Given the description of an element on the screen output the (x, y) to click on. 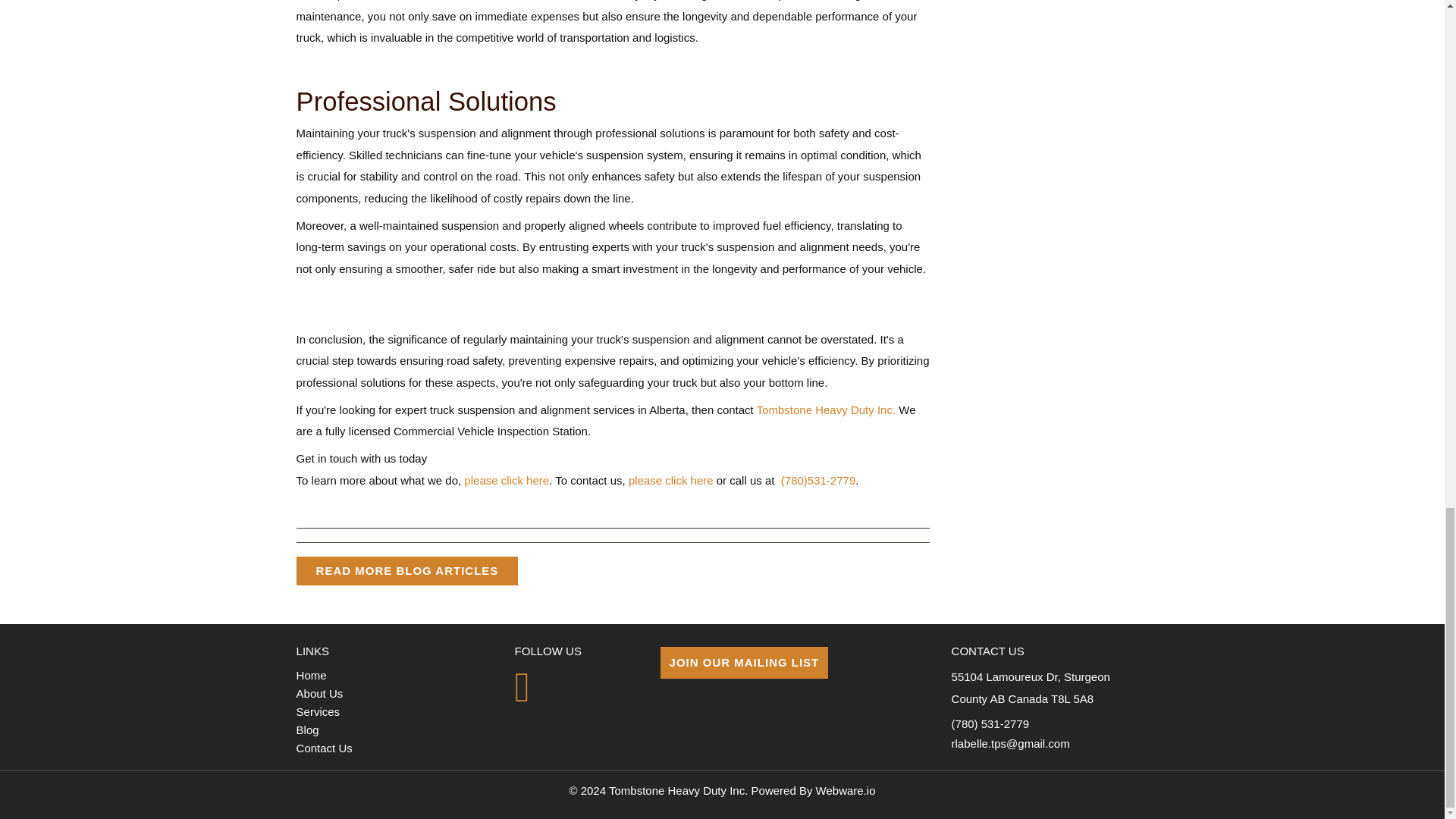
please click here (670, 480)
Tombstone Heavy Duty Inc. (826, 409)
READ MORE BLOG ARTICLES (407, 570)
please click here (506, 480)
